Given the description of an element on the screen output the (x, y) to click on. 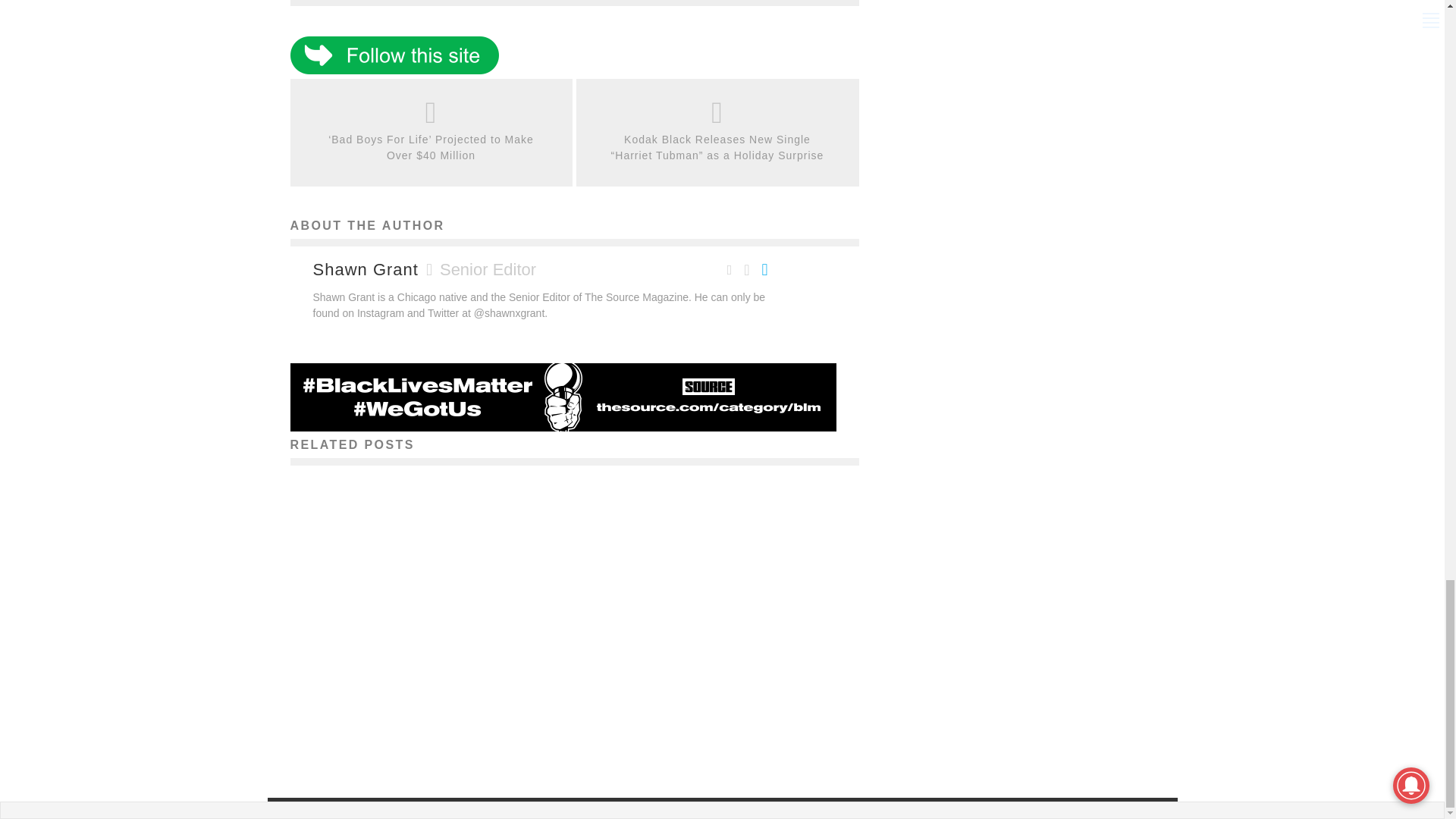
Shawn Grant (365, 269)
Follow.It (393, 70)
Khari (381, 731)
The Source (671, 731)
